Given the description of an element on the screen output the (x, y) to click on. 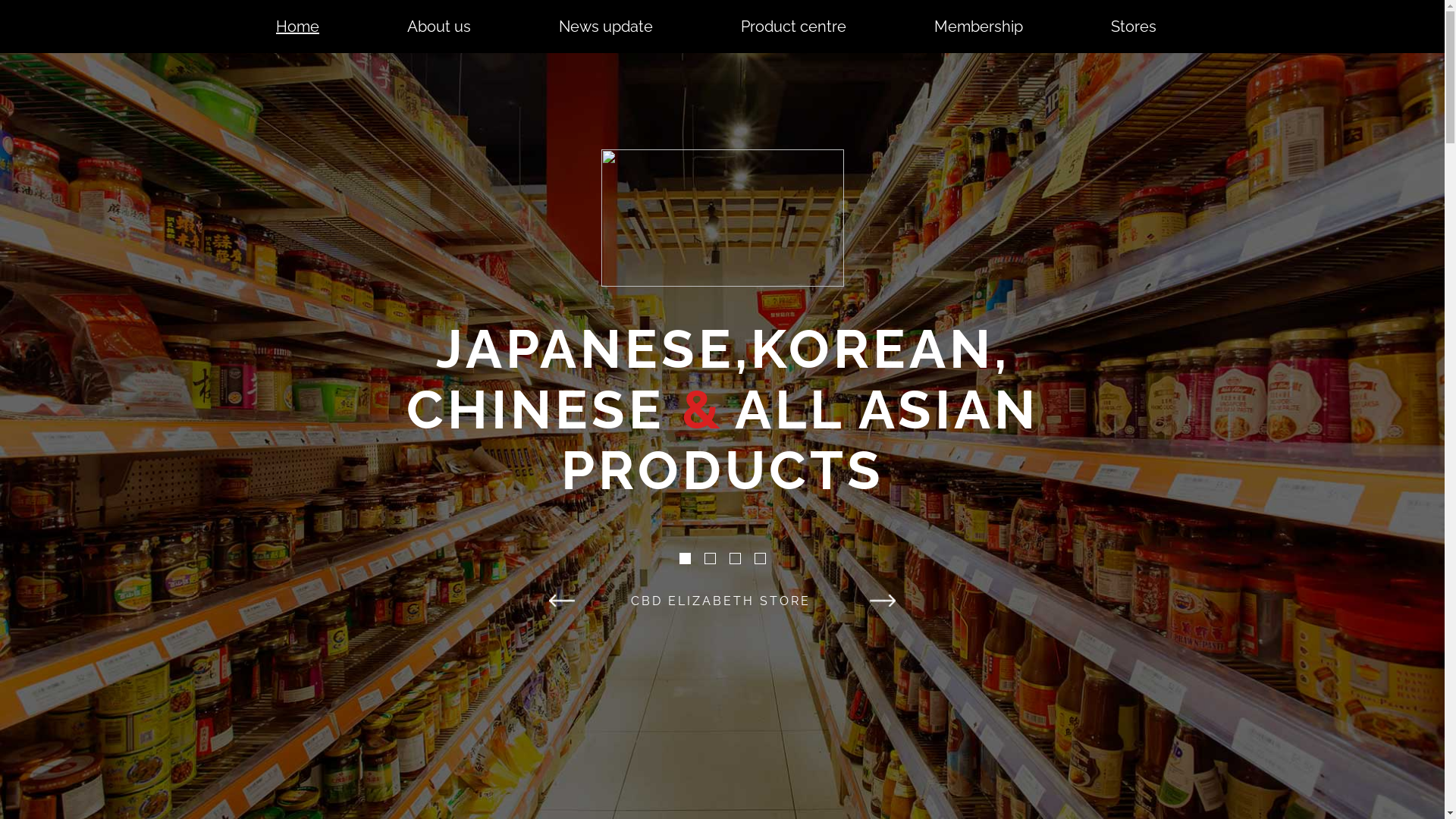
Skip to content Element type: text (183, 11)
About us Element type: text (438, 26)
Membership Element type: text (978, 26)
Stores Element type: text (1133, 26)
Home Element type: text (297, 26)
Skip to navigation Element type: text (191, 11)
Product centre Element type: text (793, 26)
News update Element type: text (605, 26)
